Given the description of an element on the screen output the (x, y) to click on. 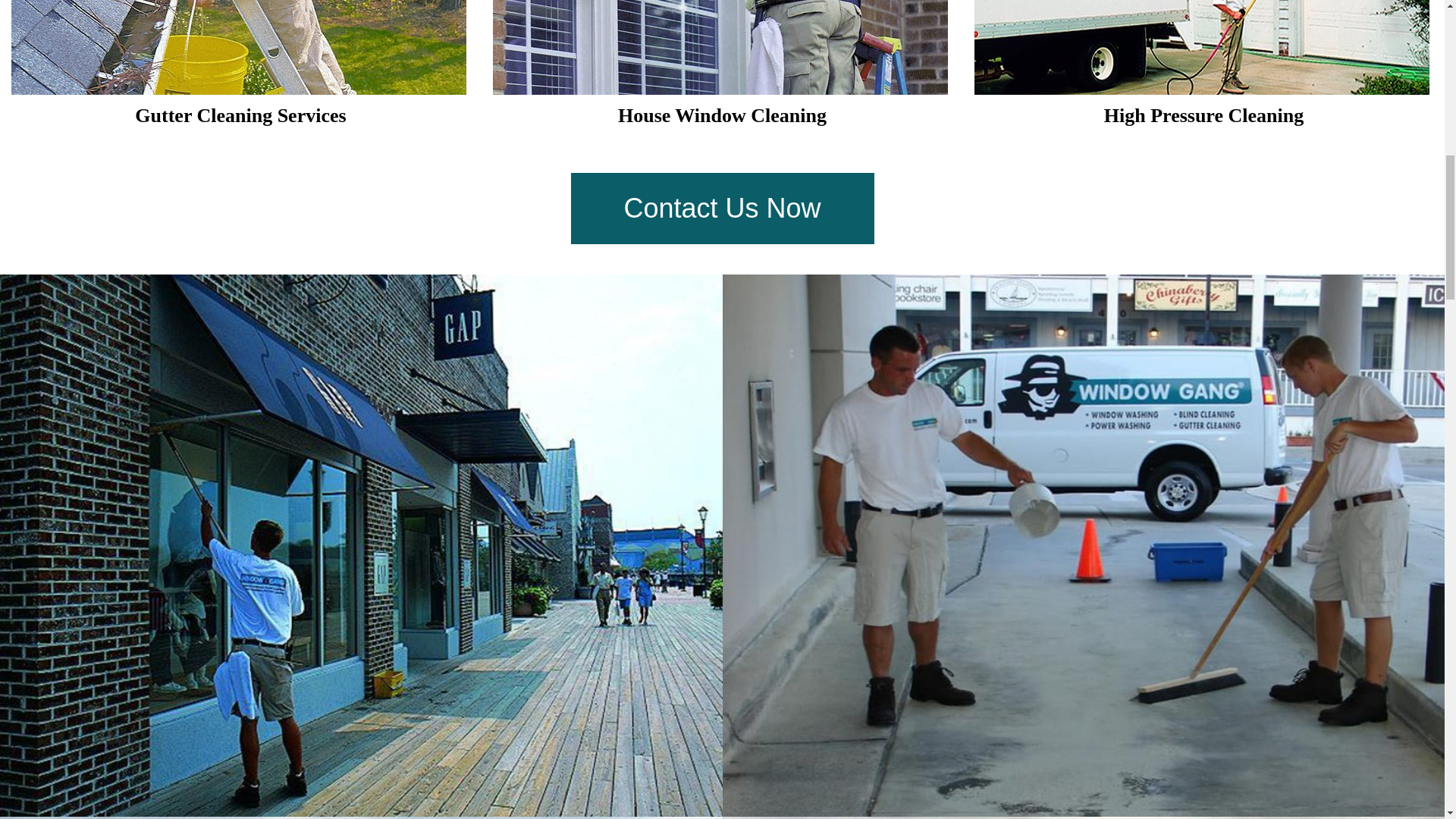
Contact Us Now (721, 208)
